Given the description of an element on the screen output the (x, y) to click on. 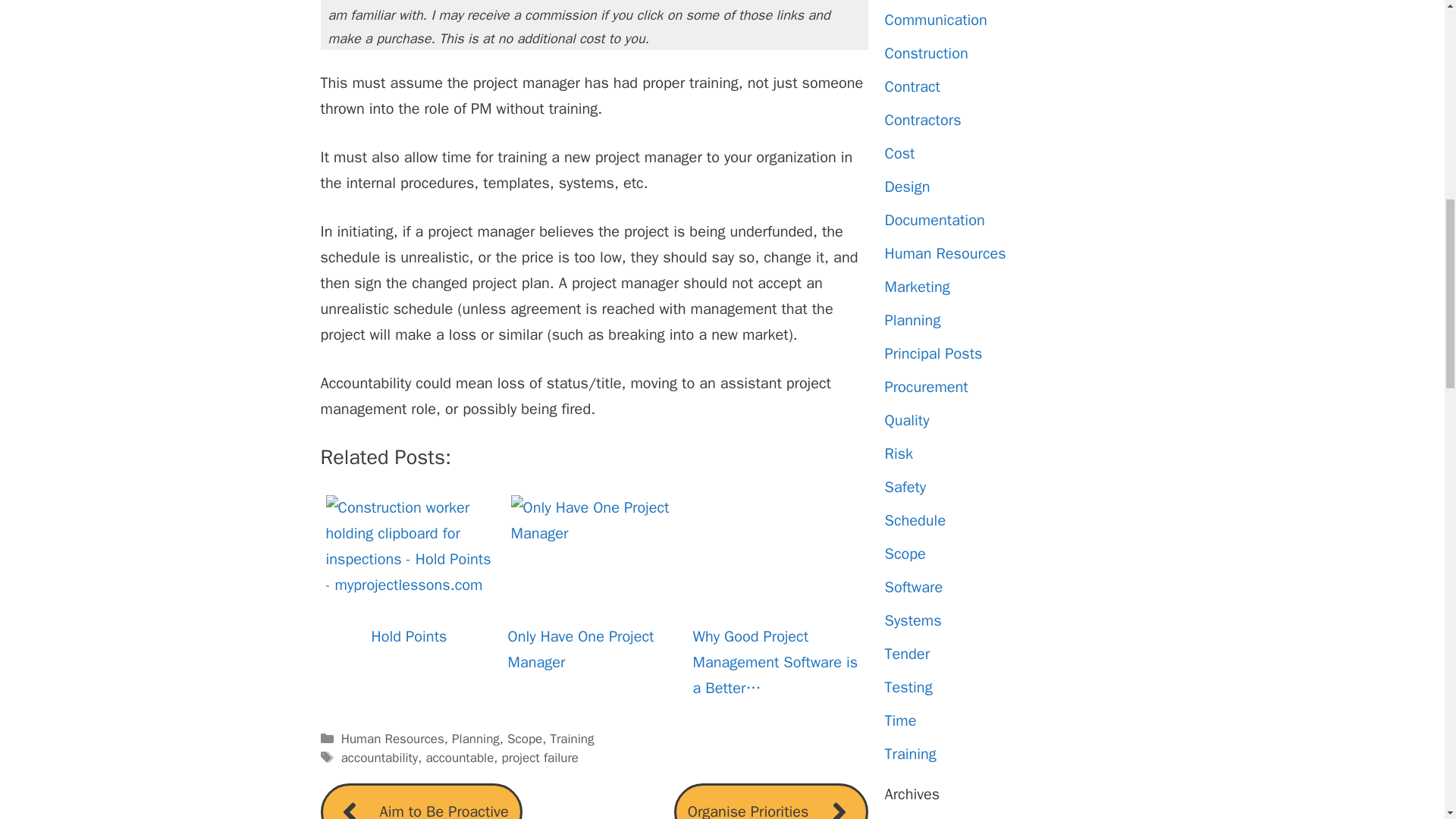
Training (572, 738)
Only Have One Project Manager (594, 559)
Planning (475, 738)
Scroll back to top (1406, 720)
Scope (523, 738)
Next Post (770, 800)
accountability (379, 757)
Human Resources (392, 738)
accountable (459, 757)
Aim to Be Proactive (420, 800)
